Given the description of an element on the screen output the (x, y) to click on. 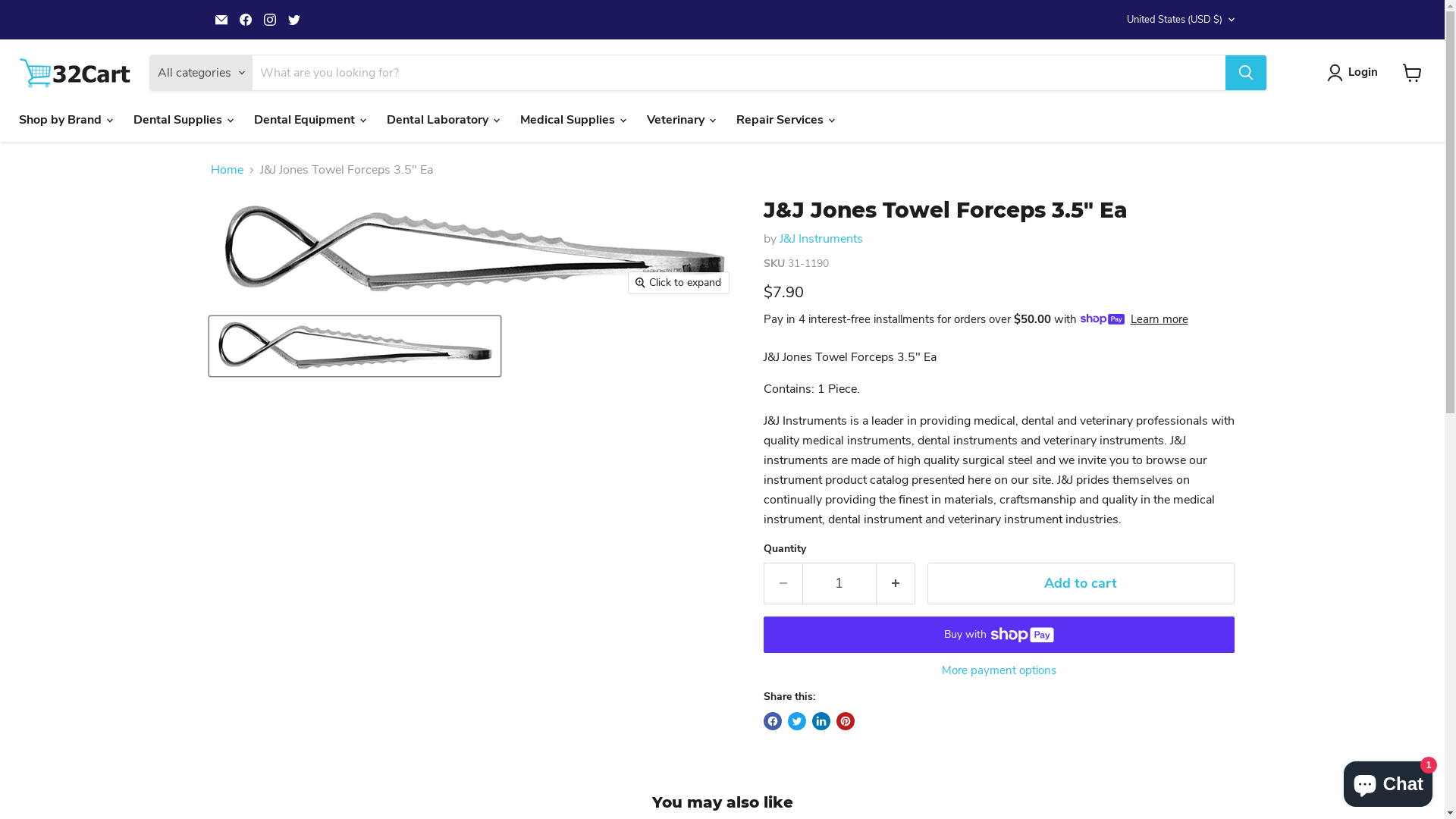
Find us on Instagram Element type: text (269, 19)
Email 32Cart Element type: text (221, 19)
Share on LinkedIn Element type: text (820, 721)
Find us on Facebook Element type: text (245, 19)
Add to cart Element type: text (1079, 583)
Tweet on Twitter Element type: text (796, 721)
View cart Element type: text (1412, 72)
Find us on Twitter Element type: text (293, 19)
United States (USD $) Element type: text (1176, 19)
Home Element type: text (226, 169)
Login Element type: text (1355, 72)
Click to expand Element type: text (678, 282)
J&J Instruments Element type: text (820, 238)
Share on Facebook Element type: text (771, 721)
Shopify online store chat Element type: hover (1388, 780)
Pin on Pinterest Element type: text (844, 721)
More payment options Element type: text (997, 670)
